Given the description of an element on the screen output the (x, y) to click on. 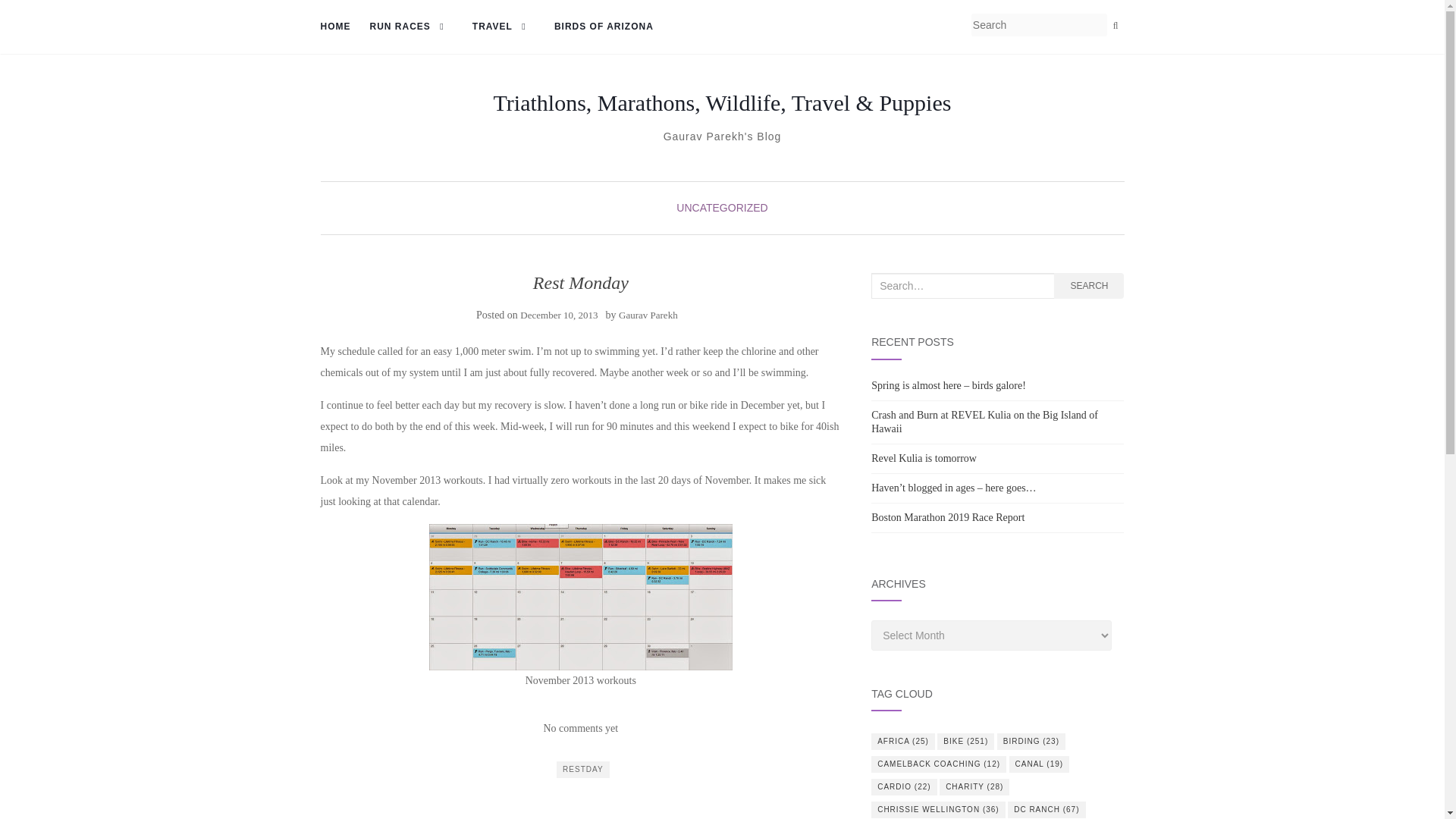
Gaurav Parekh (648, 315)
Boston Marathon 2019 Race Report (947, 517)
Revel Kulia is tomorrow (923, 458)
No comments yet (580, 727)
RUN RACES (410, 27)
Run Races (410, 27)
Travel (503, 27)
SEARCH (1089, 285)
Crash and Burn at REVEL Kulia on the Big Island of Hawaii (983, 421)
RESTDAY (583, 769)
